Given the description of an element on the screen output the (x, y) to click on. 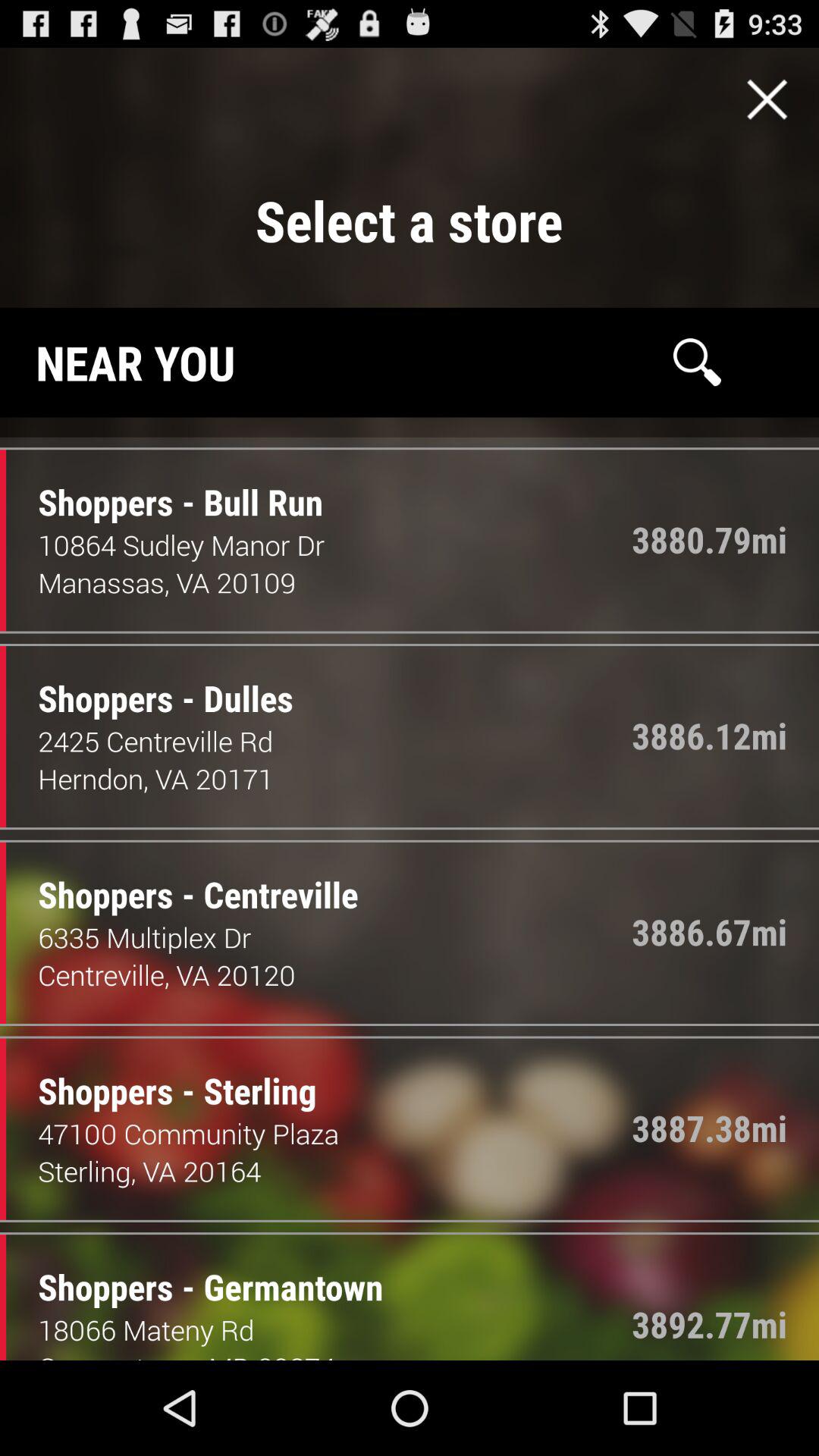
jump until the 3892.77mi (709, 1324)
